Given the description of an element on the screen output the (x, y) to click on. 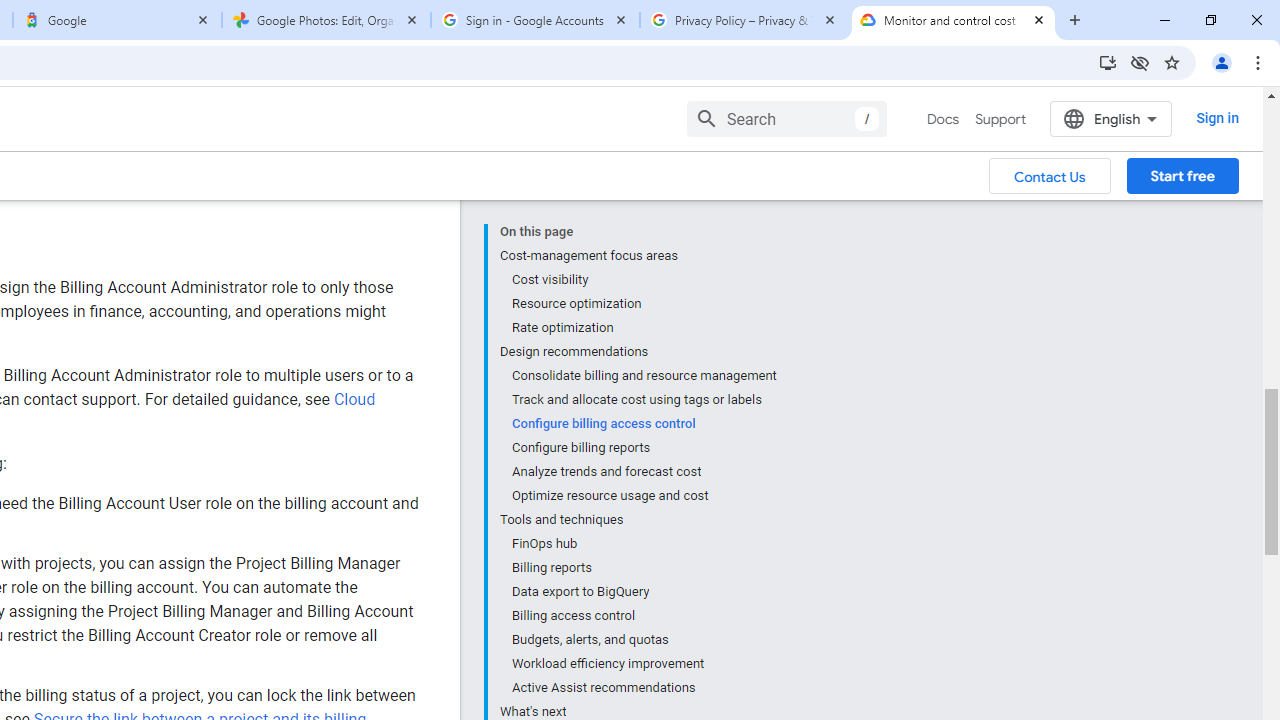
Rate optimization (643, 327)
Cost-management focus areas (637, 255)
What's next (637, 709)
English (1110, 118)
Data export to BigQuery (643, 592)
Consolidate billing and resource management (643, 376)
Start free (1182, 175)
Cost visibility (643, 279)
Active Assist recommendations (643, 687)
Configure billing access control (643, 423)
